Given the description of an element on the screen output the (x, y) to click on. 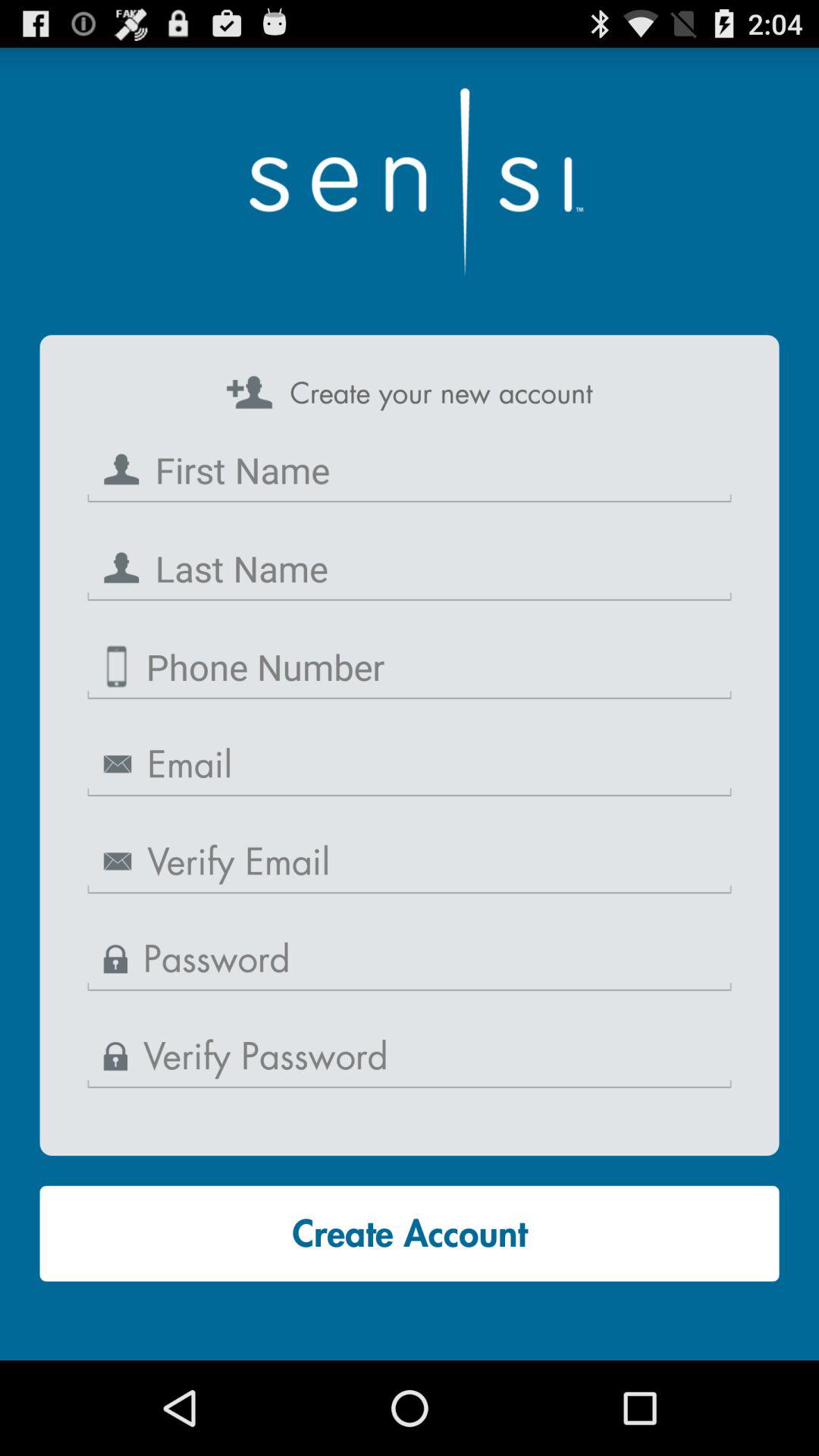
enter phone number (409, 667)
